Given the description of an element on the screen output the (x, y) to click on. 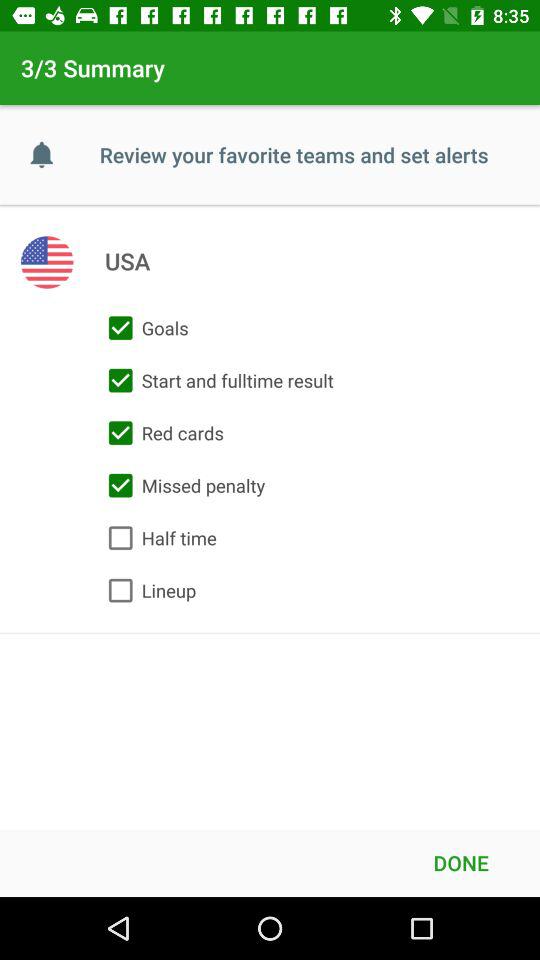
scroll to the start and fulltime (216, 380)
